Given the description of an element on the screen output the (x, y) to click on. 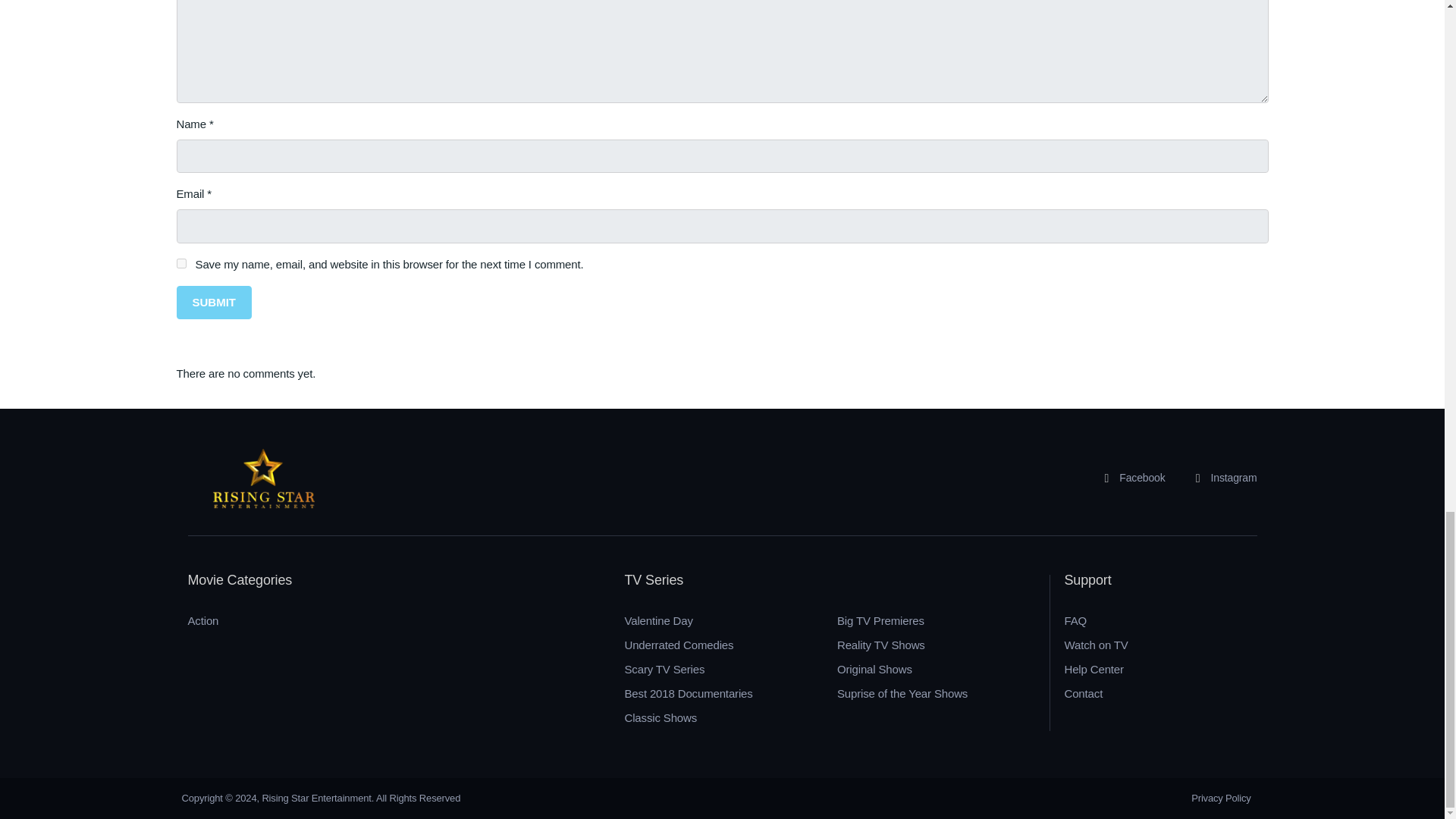
Submit (213, 302)
yes (181, 263)
